Given the description of an element on the screen output the (x, y) to click on. 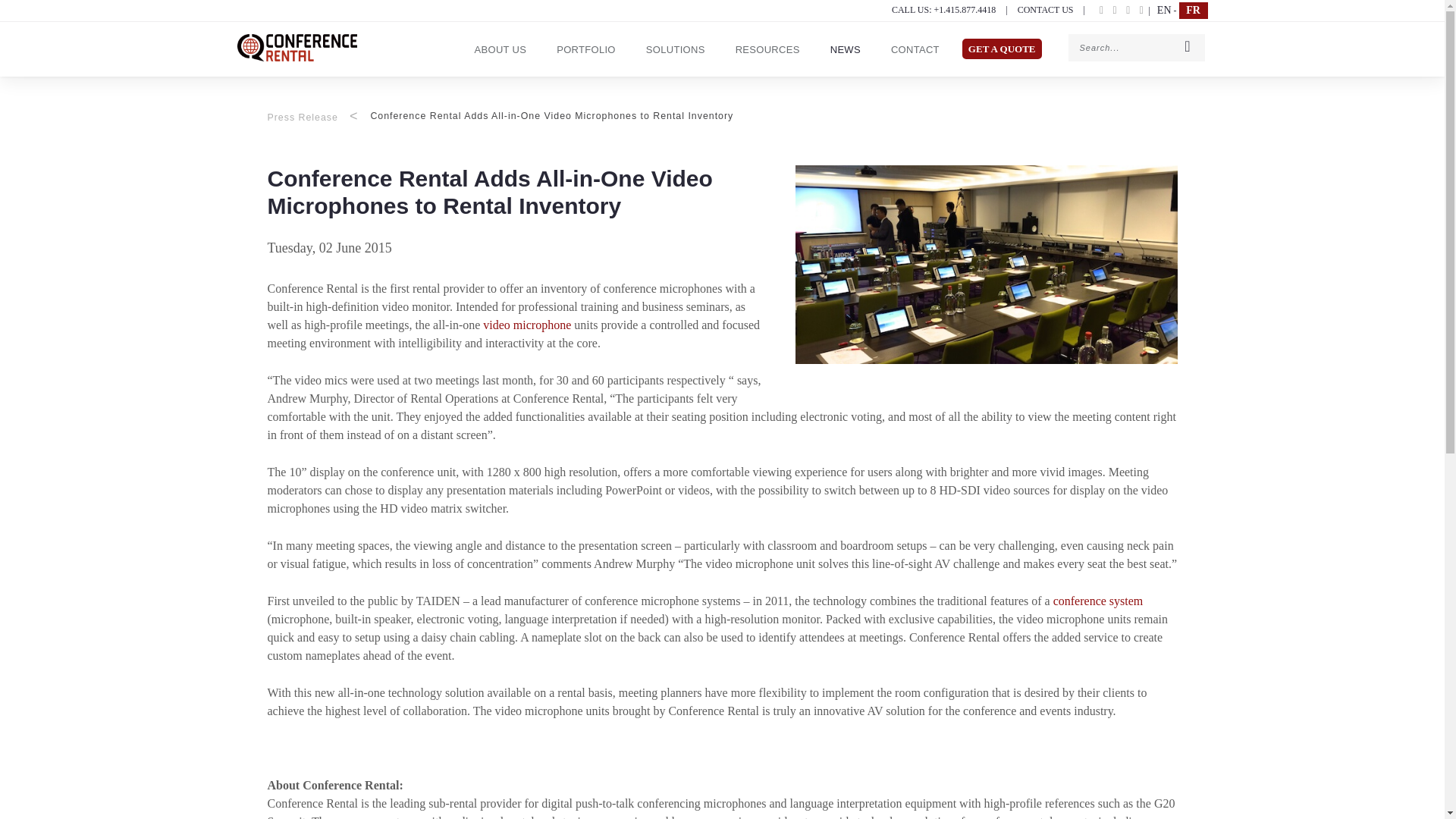
FR (1192, 10)
RESOURCES (767, 48)
CONTACT US (1045, 9)
SOLUTIONS (675, 48)
NEWS (845, 48)
ABOUT US (500, 48)
GET A QUOTE (1001, 48)
PORTFOLIO (585, 48)
